Given the description of an element on the screen output the (x, y) to click on. 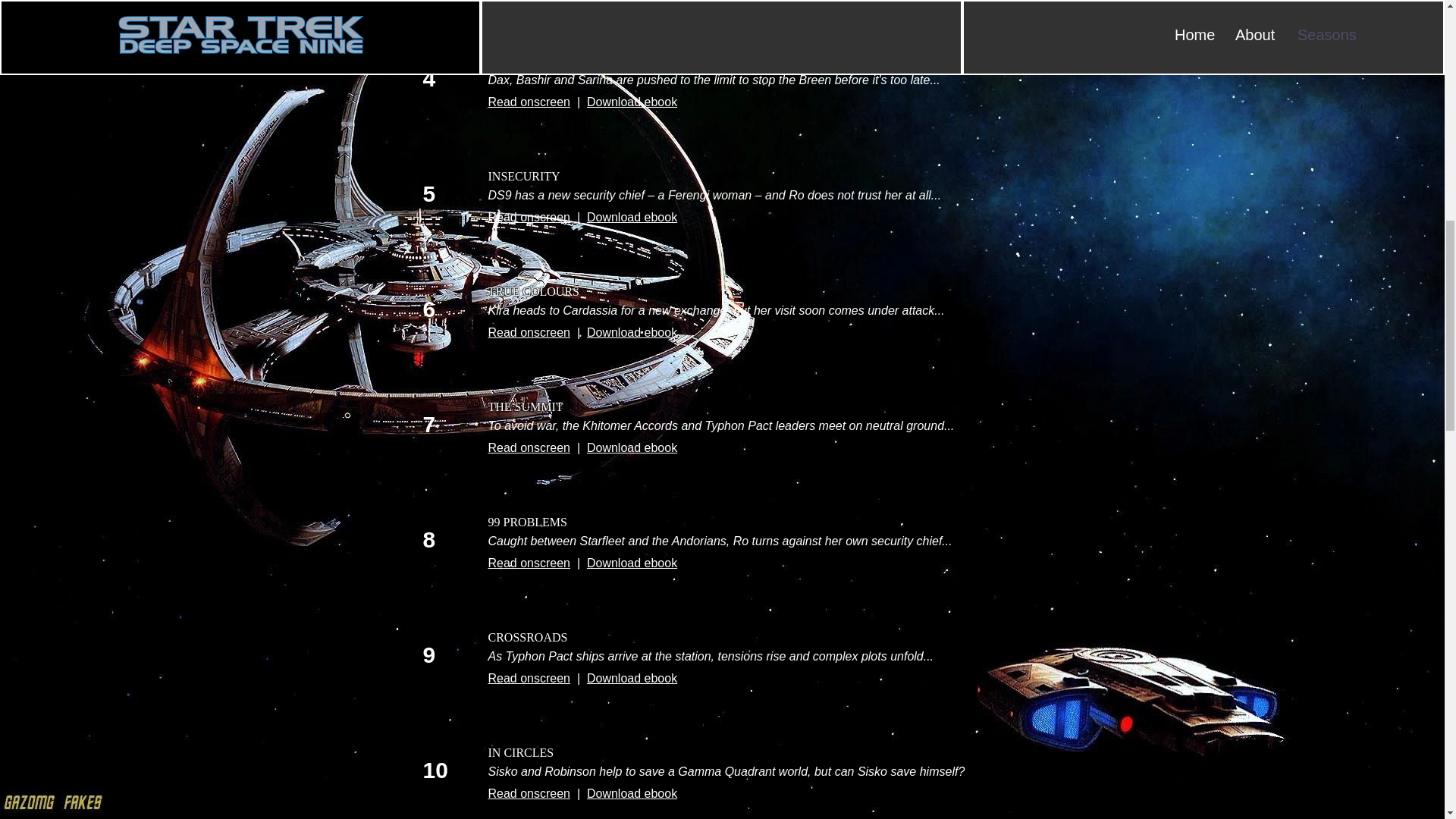
Download ebook (631, 101)
Download ebook (631, 332)
Read onscreen (528, 793)
Read onscreen (528, 447)
Read onscreen (528, 216)
Download ebook (631, 447)
Read onscreen (528, 677)
Read onscreen (528, 562)
Download ebook (631, 677)
Read onscreen (528, 332)
Download ebook (631, 216)
Read onscreen (528, 101)
Download ebook (631, 562)
Download ebook (631, 793)
